Given the description of an element on the screen output the (x, y) to click on. 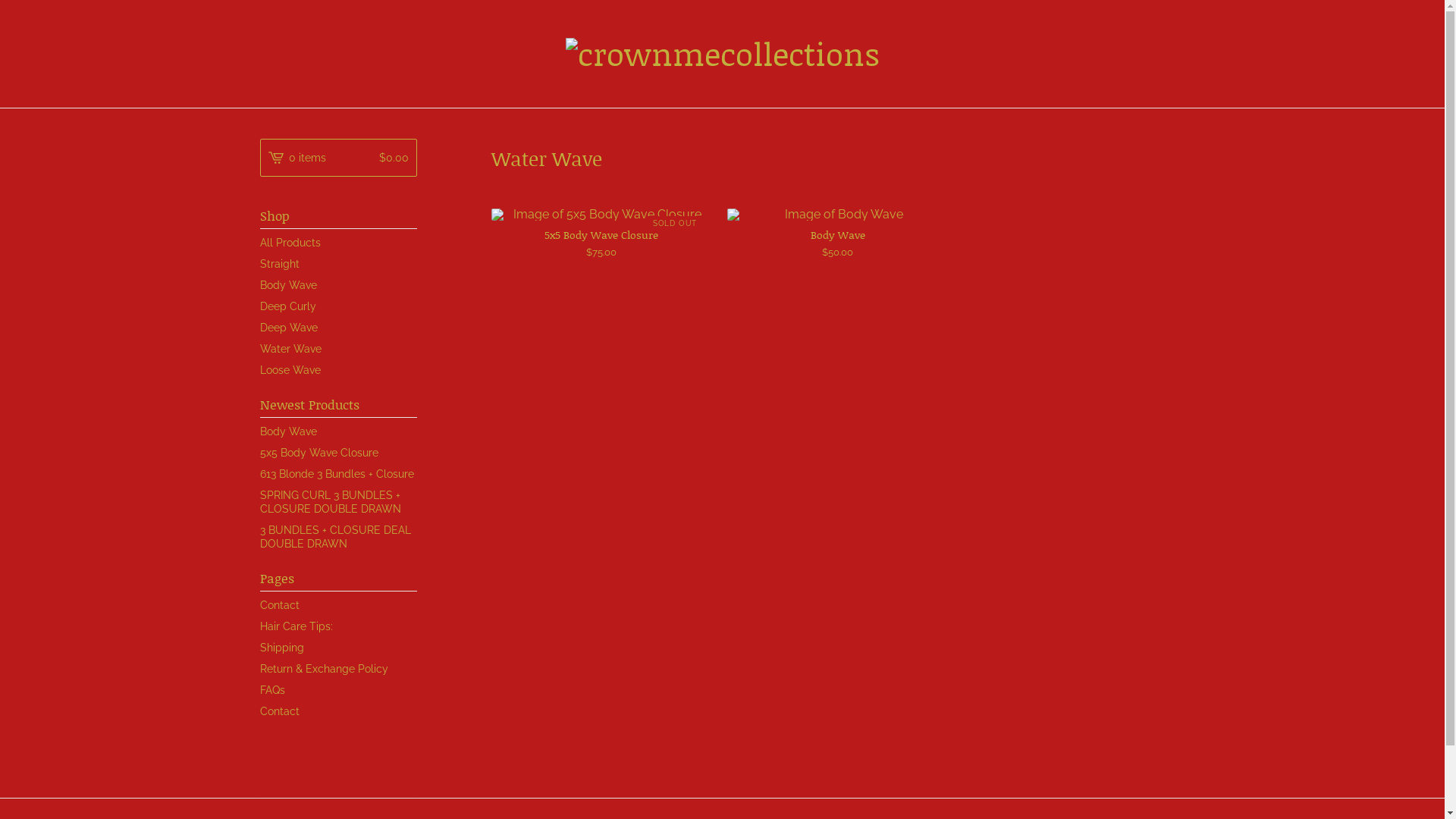
Body Wave Element type: text (337, 431)
Body Wave Element type: text (337, 284)
5x5 Body Wave Closure Element type: text (337, 452)
Body Wave
$50.00 Element type: text (837, 233)
5x5 Body Wave Closure
$75.00
SOLD OUT Element type: text (601, 233)
crownmecollections Element type: hover (722, 53)
Deep Wave Element type: text (337, 327)
Shipping Element type: text (337, 647)
Contact Element type: text (337, 710)
SPRING CURL 3 BUNDLES + CLOSURE DOUBLE DRAWN Element type: text (337, 501)
FAQs Element type: text (337, 689)
Straight Element type: text (337, 263)
All Products Element type: text (337, 242)
3 BUNDLES + CLOSURE DEAL DOUBLE DRAWN Element type: text (337, 536)
613 Blonde 3 Bundles + Closure Element type: text (337, 473)
Contact Element type: text (337, 604)
Water Wave Element type: text (337, 348)
Deep Curly Element type: text (337, 305)
Hair Care Tips: Element type: text (337, 626)
Return & Exchange Policy Element type: text (337, 668)
Loose Wave Element type: text (337, 369)
0 items
$0.00 Element type: text (337, 157)
